Given the description of an element on the screen output the (x, y) to click on. 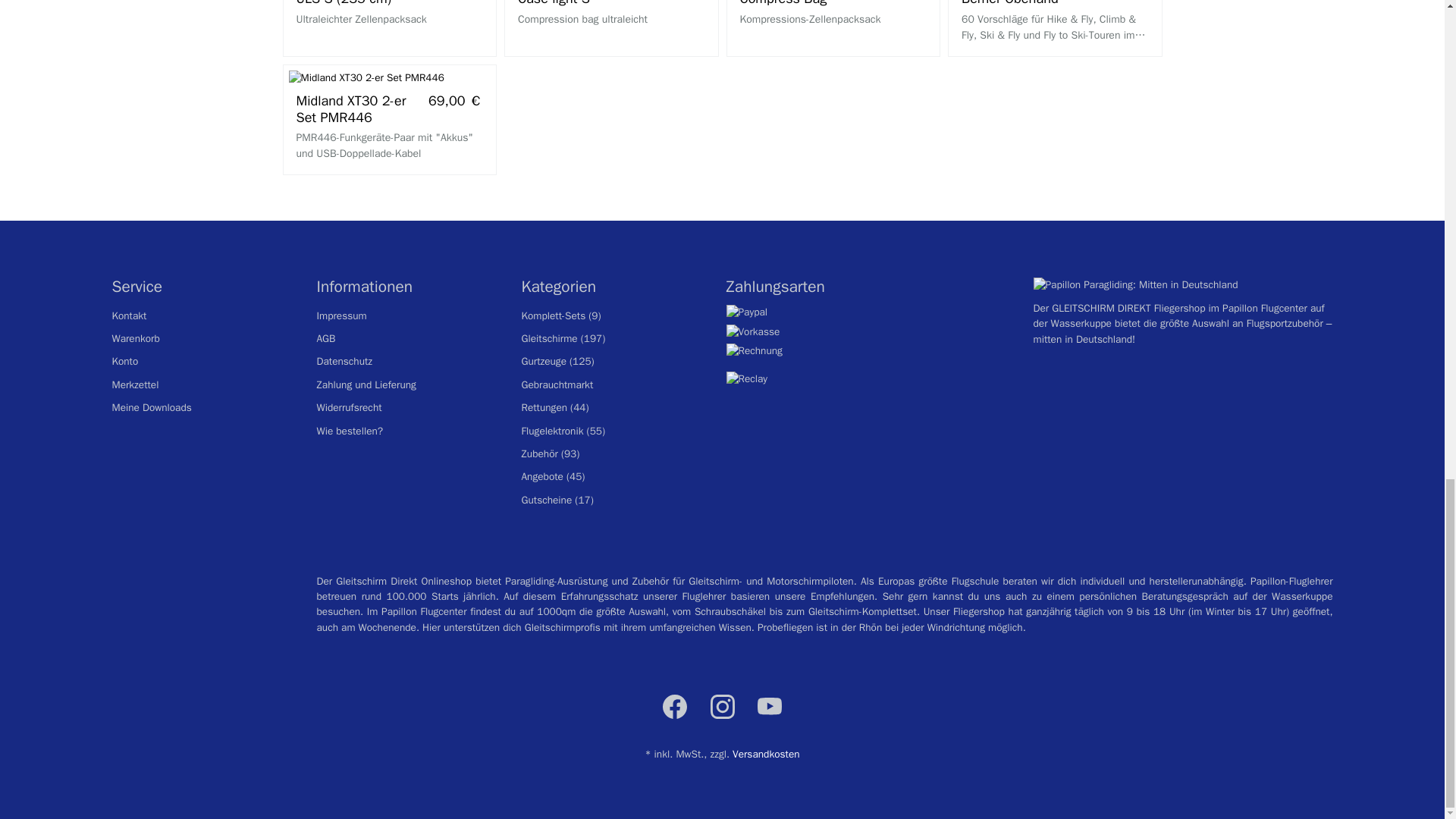
Reclay (747, 378)
Anfahrt (1082, 338)
Reclay (747, 378)
